Given the description of an element on the screen output the (x, y) to click on. 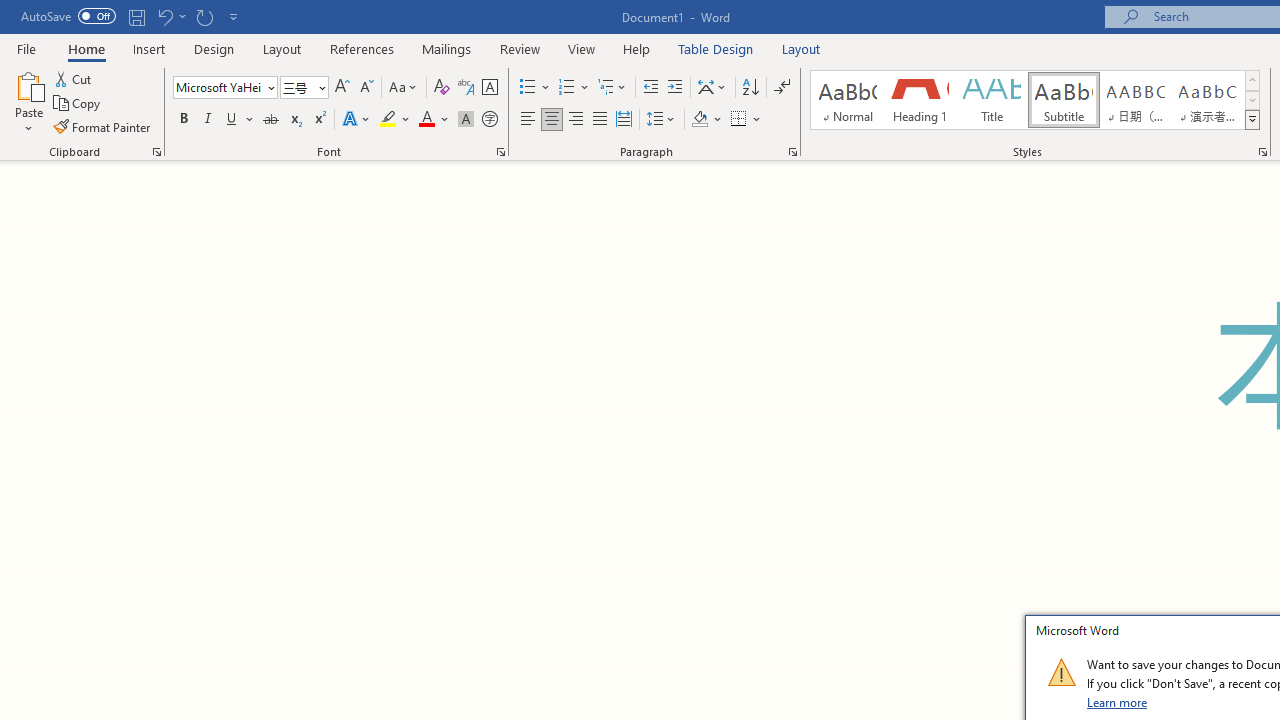
Heading 1 (920, 100)
Layout (801, 48)
Row Down (1252, 100)
Review (520, 48)
Character Border (489, 87)
Help (637, 48)
Save (136, 15)
Superscript (319, 119)
Shrink Font (365, 87)
Center (552, 119)
Office Clipboard... (156, 151)
Numbering (573, 87)
